Given the description of an element on the screen output the (x, y) to click on. 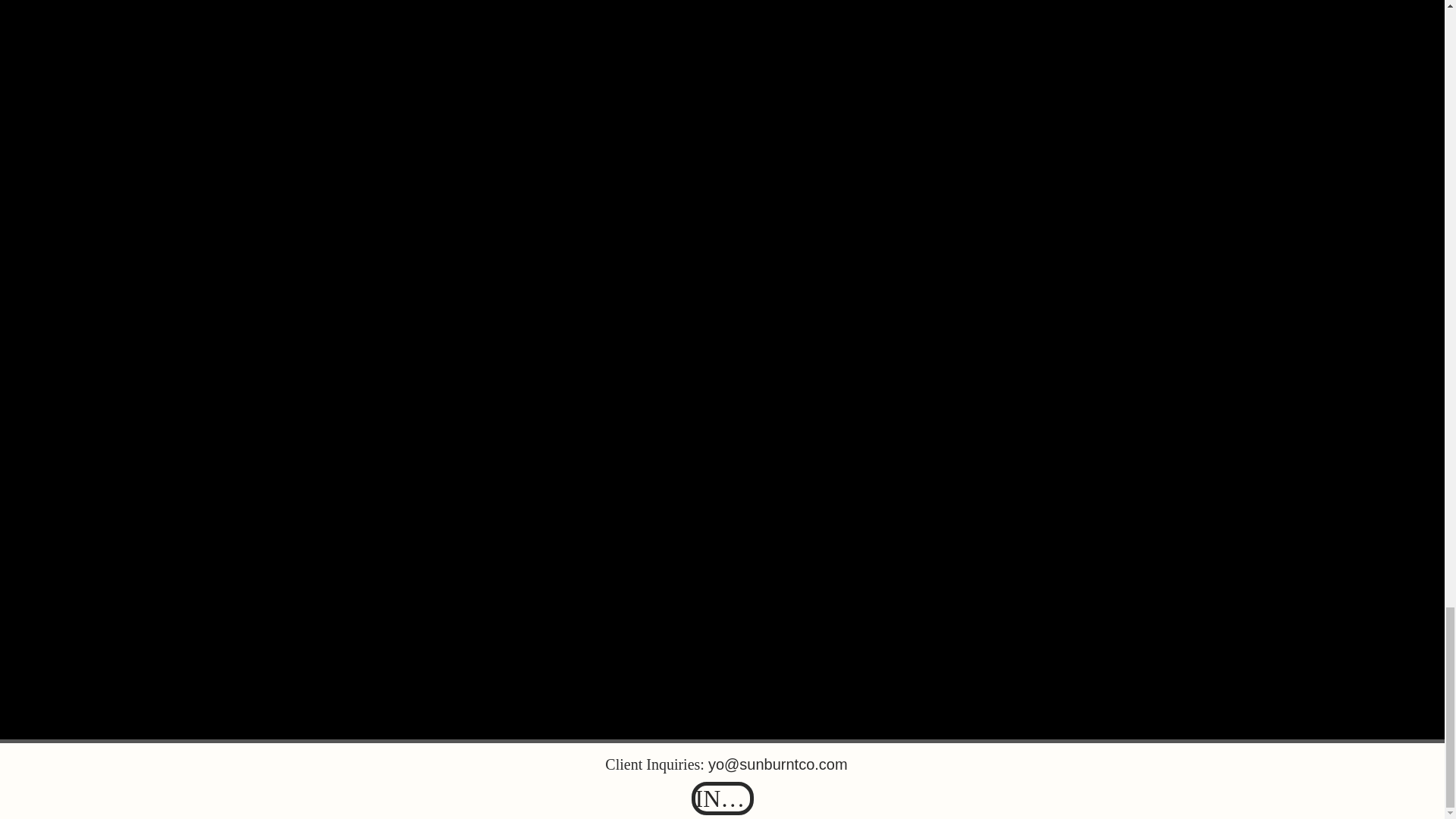
INFO (722, 798)
